Given the description of an element on the screen output the (x, y) to click on. 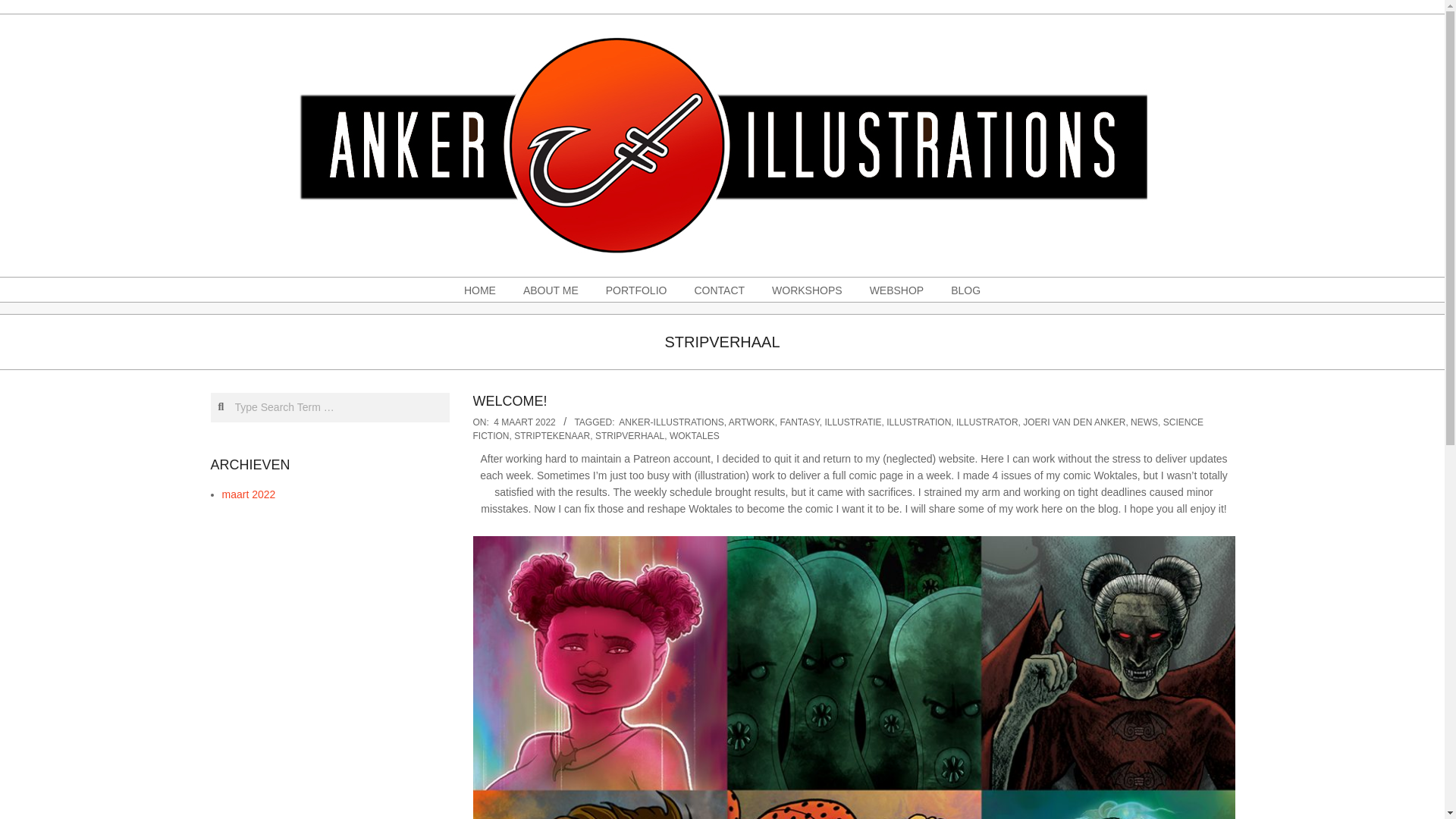
HOME (479, 289)
CONTACT (718, 289)
BLOG (965, 289)
STRIPVERHAAL (629, 435)
PORTFOLIO (636, 289)
ILLUSTRATION (918, 421)
ARTWORK (751, 421)
WELCOME! (510, 400)
WOKTALES (694, 435)
maart 2022 (248, 494)
